Given the description of an element on the screen output the (x, y) to click on. 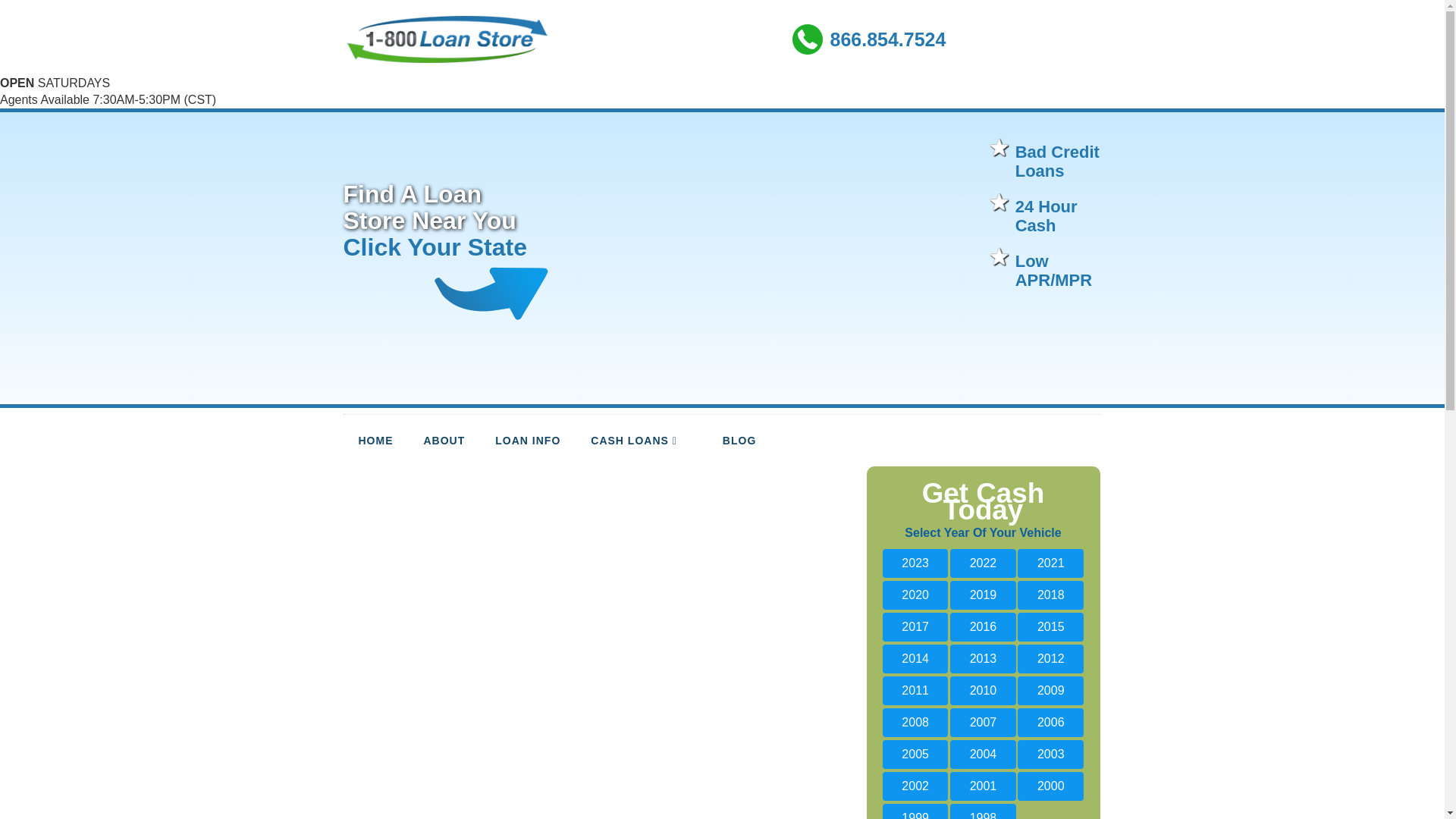
ABOUT Element type: text (443, 440)
LOAN INFO Element type: text (527, 440)
HOME Element type: text (374, 440)
BLOG Element type: text (739, 440)
